Given the description of an element on the screen output the (x, y) to click on. 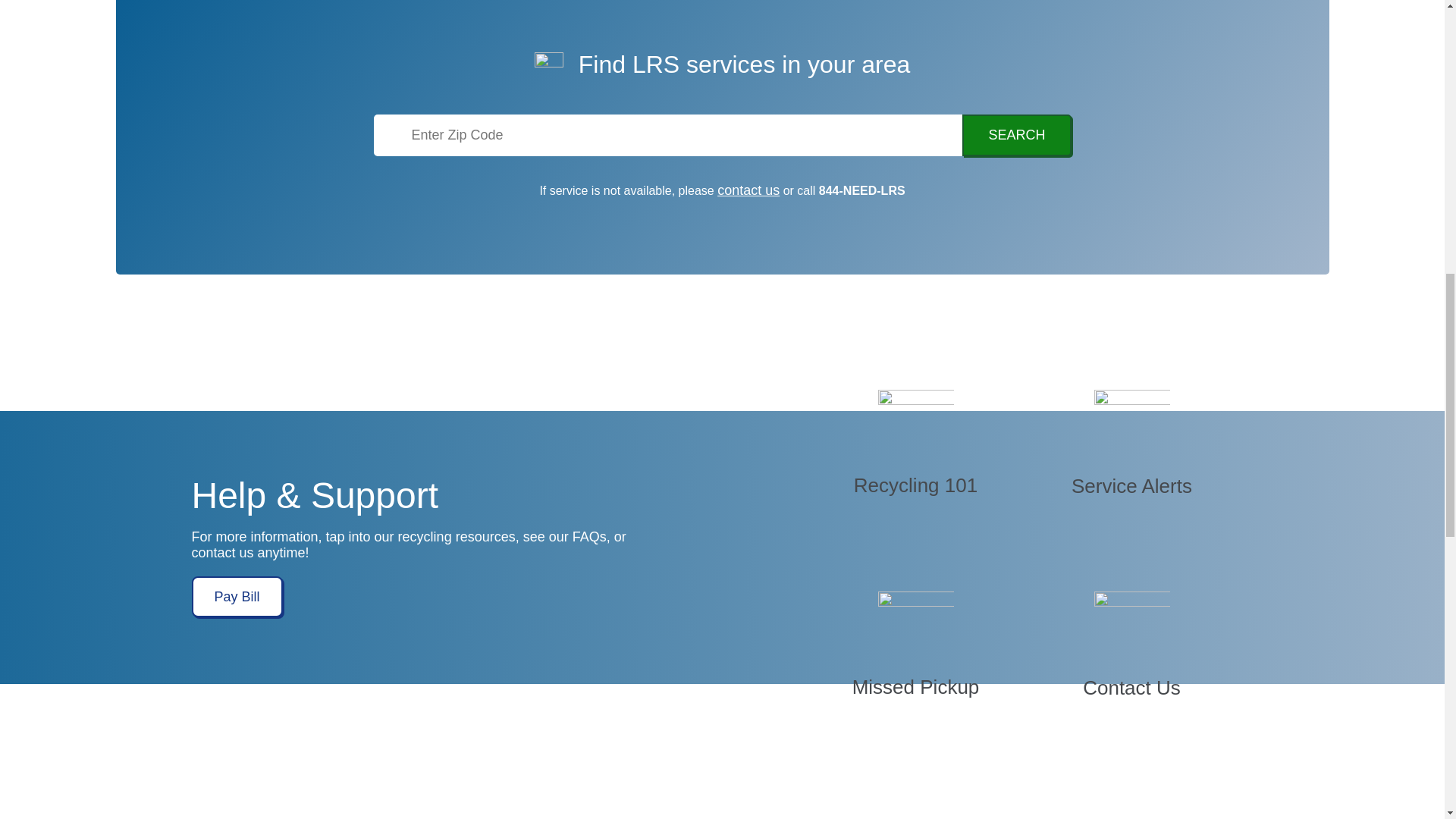
search (1016, 135)
